Given the description of an element on the screen output the (x, y) to click on. 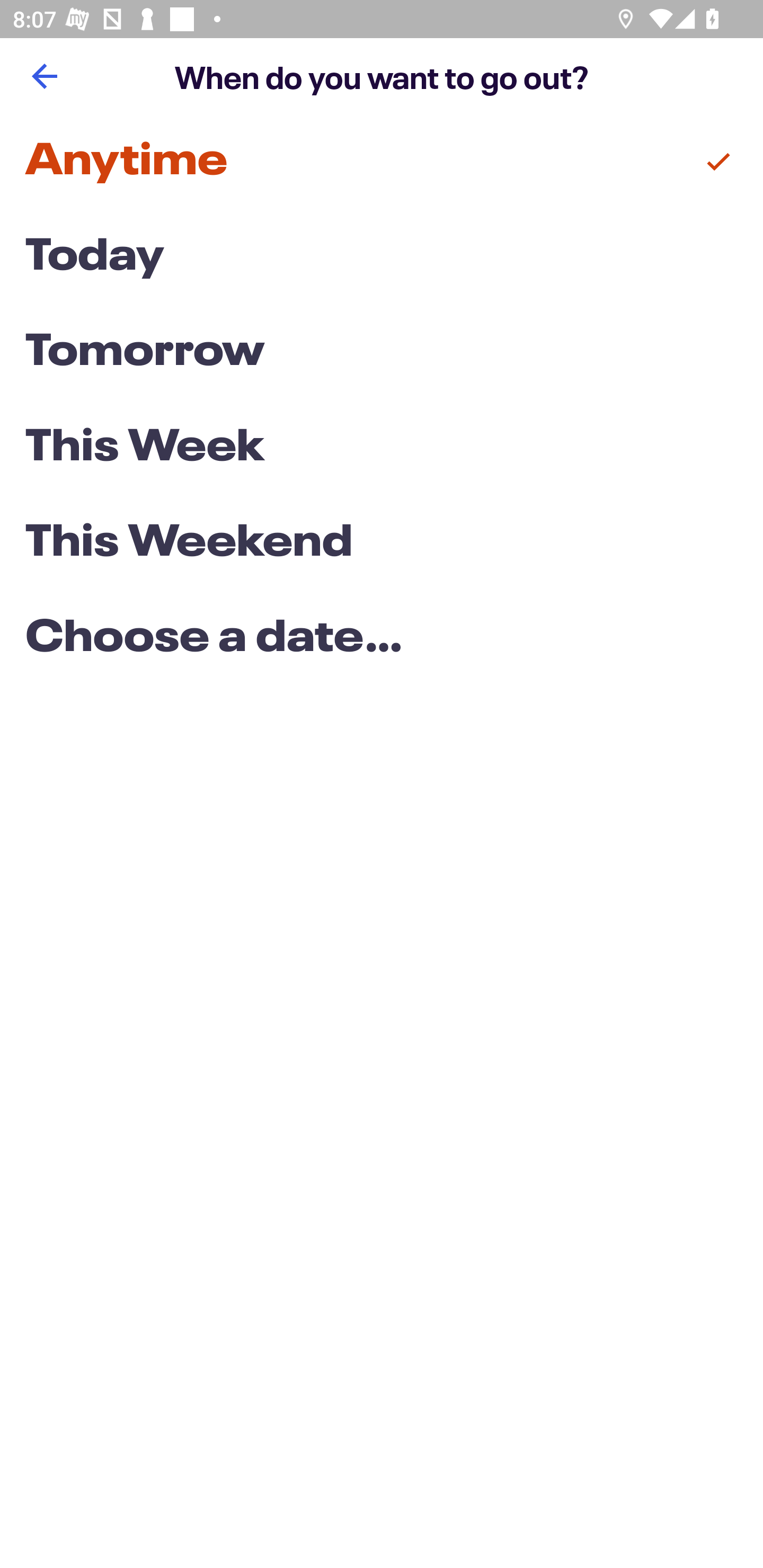
Back button (44, 75)
Anytime (381, 161)
Today (381, 257)
Tomorrow (381, 352)
This Week (381, 447)
This Weekend (381, 542)
Choose a date… (381, 638)
